Given the description of an element on the screen output the (x, y) to click on. 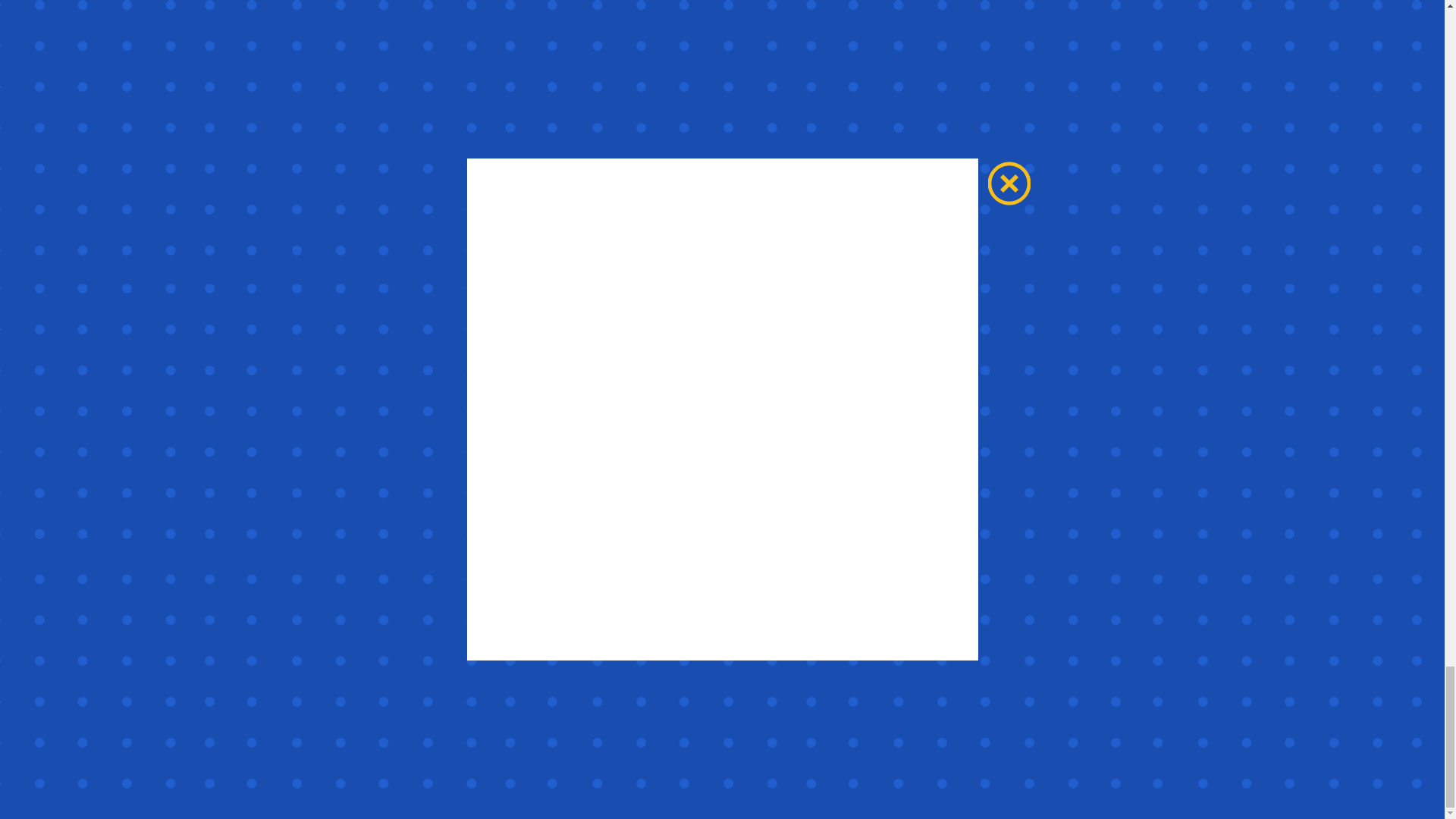
Post not marked as liked (1050, 586)
0 (931, 586)
How to Get School-Based Therapy (721, 532)
Post not marked as liked (995, 266)
Post not marked as liked (804, 586)
0 (435, 586)
See All (1061, 349)
contact us (903, 128)
Post not marked as liked (558, 586)
0 (685, 586)
